Given the description of an element on the screen output the (x, y) to click on. 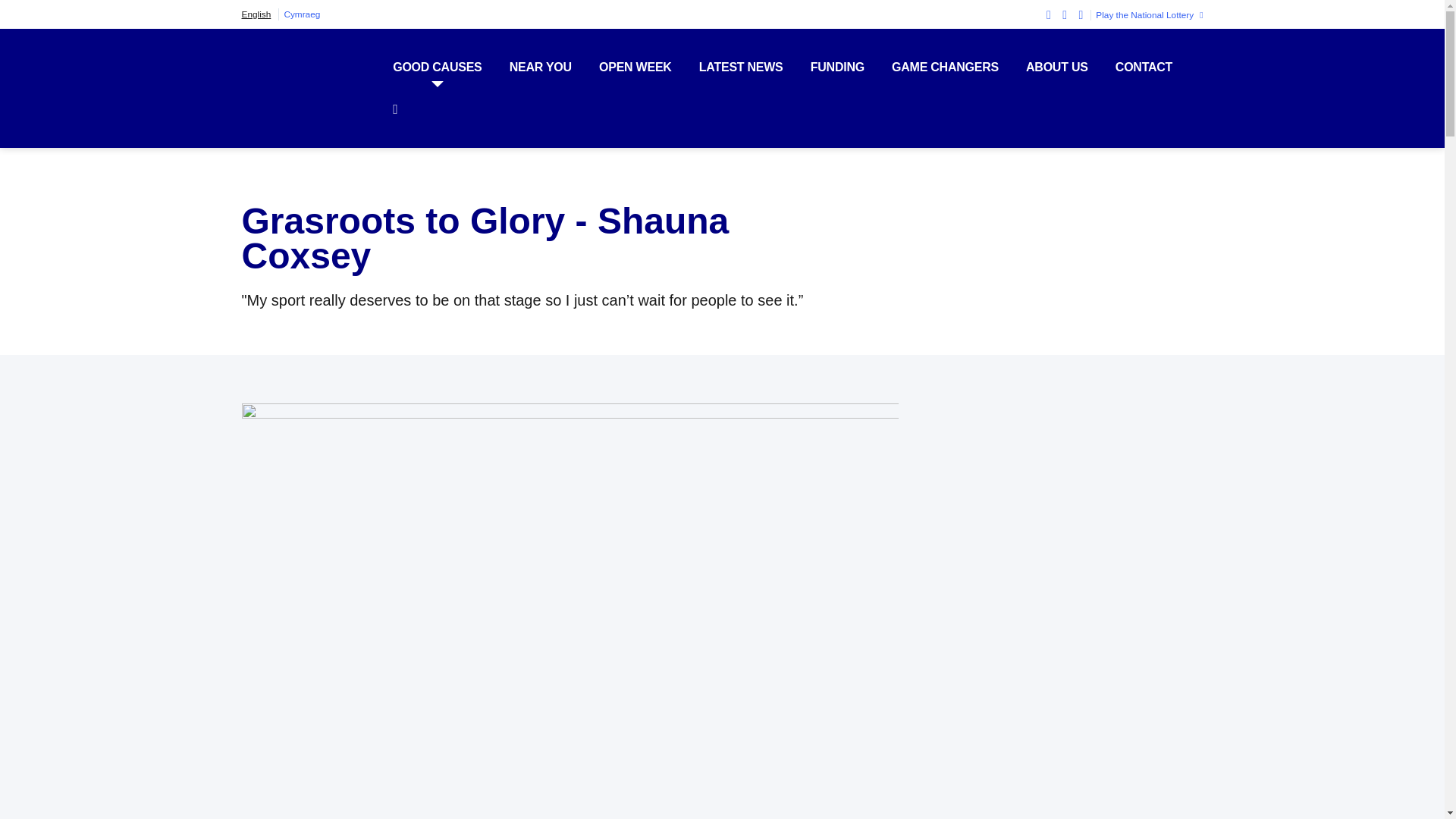
CONTACT (1143, 66)
GAME CHANGERS (944, 66)
ABOUT US (1056, 66)
GOOD CAUSES (437, 66)
OPEN WEEK (634, 66)
Cymraeg (301, 14)
LATEST NEWS (740, 66)
NEAR YOU (540, 66)
FUNDING (837, 66)
English (255, 14)
Play the National Lottery (1147, 14)
